Given the description of an element on the screen output the (x, y) to click on. 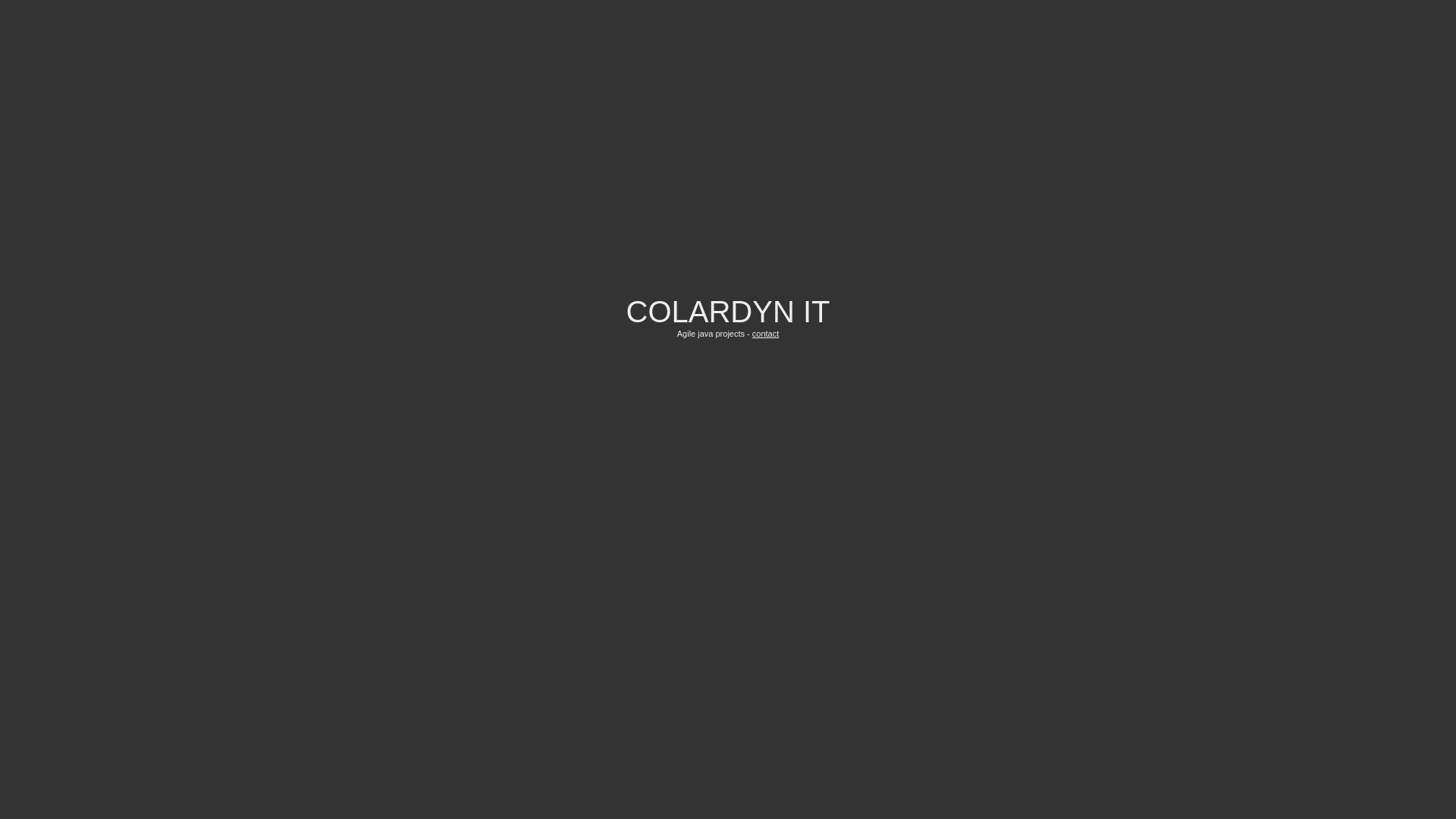
contact Element type: text (765, 333)
